Given the description of an element on the screen output the (x, y) to click on. 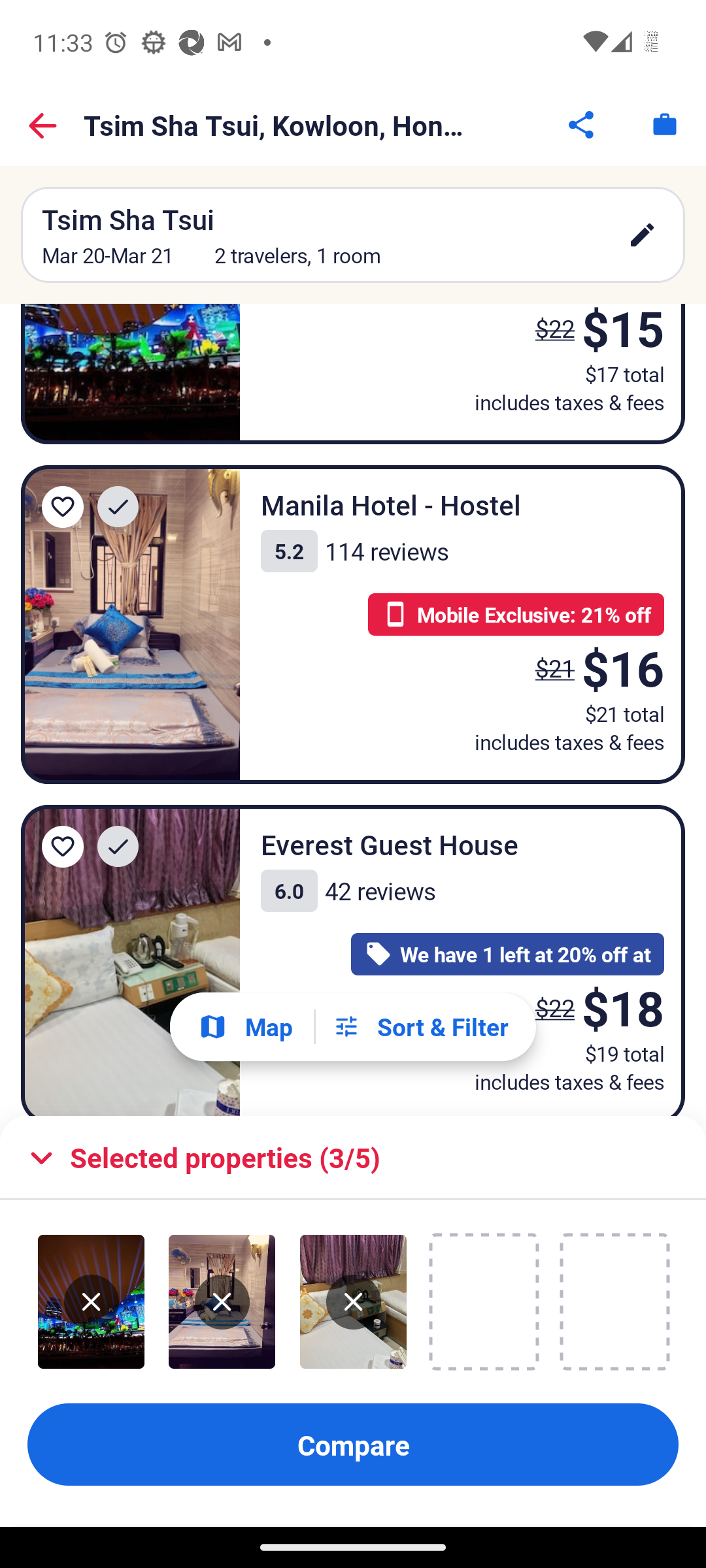
Share Button (582, 124)
Trips. Button (664, 124)
Everest Hostel (130, 373)
$22 The price was $22 (548, 337)
Manila Hotel - Hostel (130, 624)
Save Manila Hotel - Hostel to a trip (62, 506)
$21 The price was $21 (554, 667)
Everest Guest House (130, 960)
Save Everest Guest House to a trip (62, 846)
$22 The price was $22 (554, 1007)
Filters Sort & Filter Filters Button (420, 1026)
Show map Map Show map Button (244, 1025)
Unselect Everest Hostel (91, 1301)
Unselect Manila Hotel - Hostel (221, 1301)
Unselect Everest Guest House (353, 1301)
Compare Properties Compare (352, 1444)
